Given the description of an element on the screen output the (x, y) to click on. 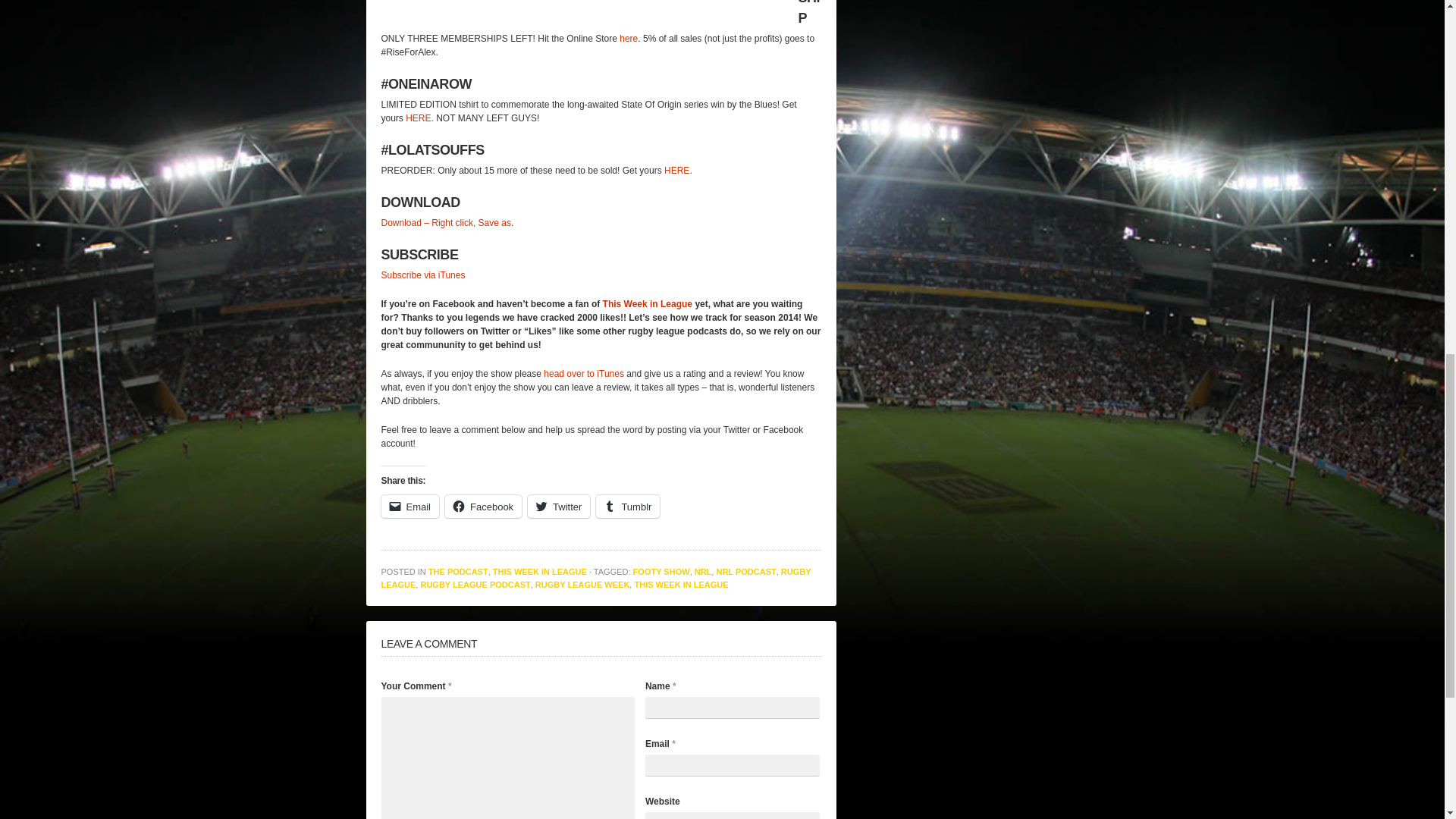
RUGBY LEAGUE WEEK (581, 583)
Subscribe via iTunes (422, 275)
Tumblr (627, 506)
HERE (675, 170)
Click to share on Tumblr (627, 506)
THIS WEEK IN LEAGUE (680, 583)
Email (409, 506)
here (628, 38)
RUGBY LEAGUE (595, 577)
head over to iTunes (583, 373)
NRL (702, 571)
Click to email a link to a friend (409, 506)
Facebook (483, 506)
NRL PODCAST (746, 571)
THIS WEEK IN LEAGUE (539, 571)
